Given the description of an element on the screen output the (x, y) to click on. 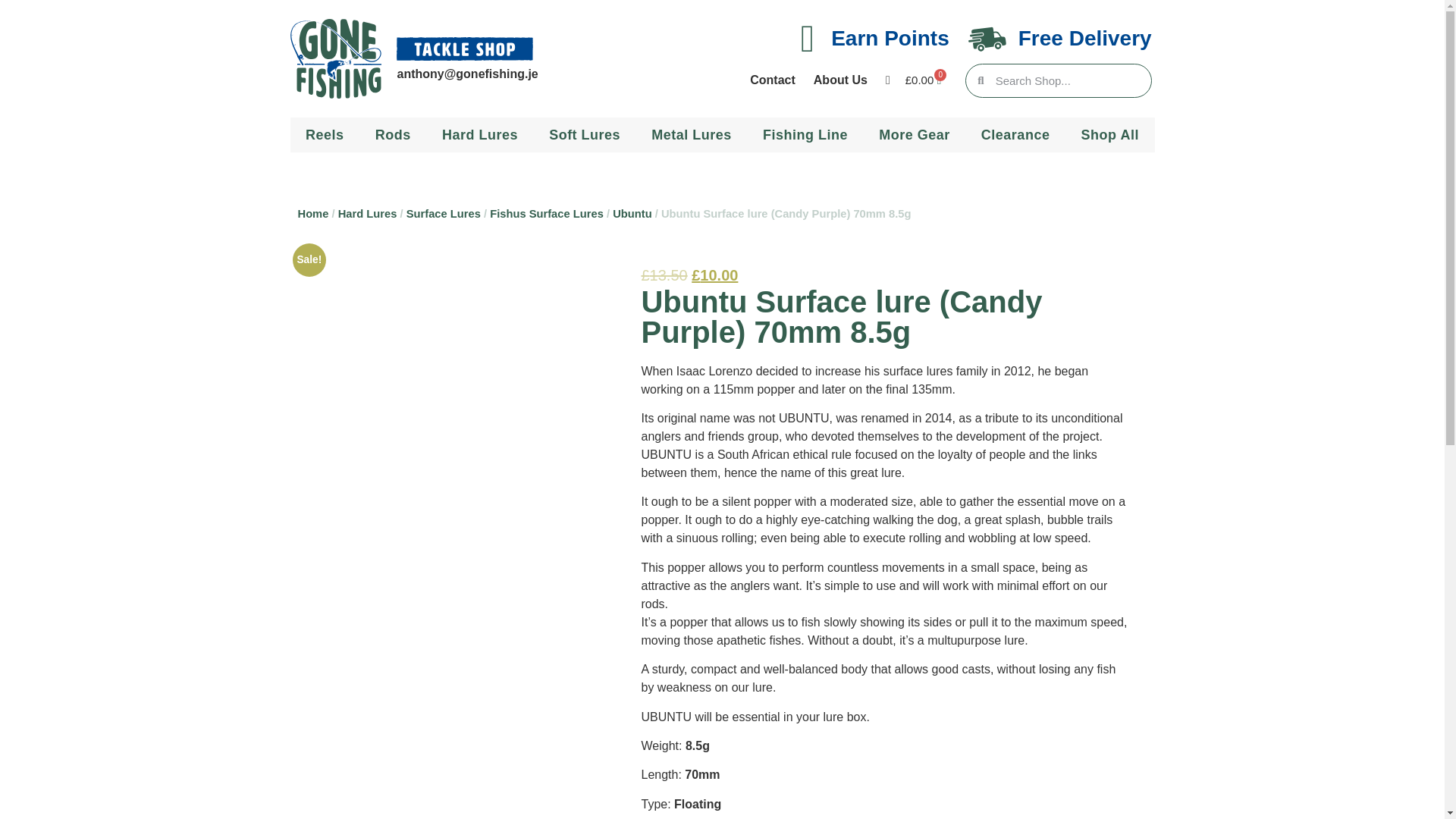
Earn Points (890, 37)
About Us (840, 79)
Contact (773, 79)
